Given the description of an element on the screen output the (x, y) to click on. 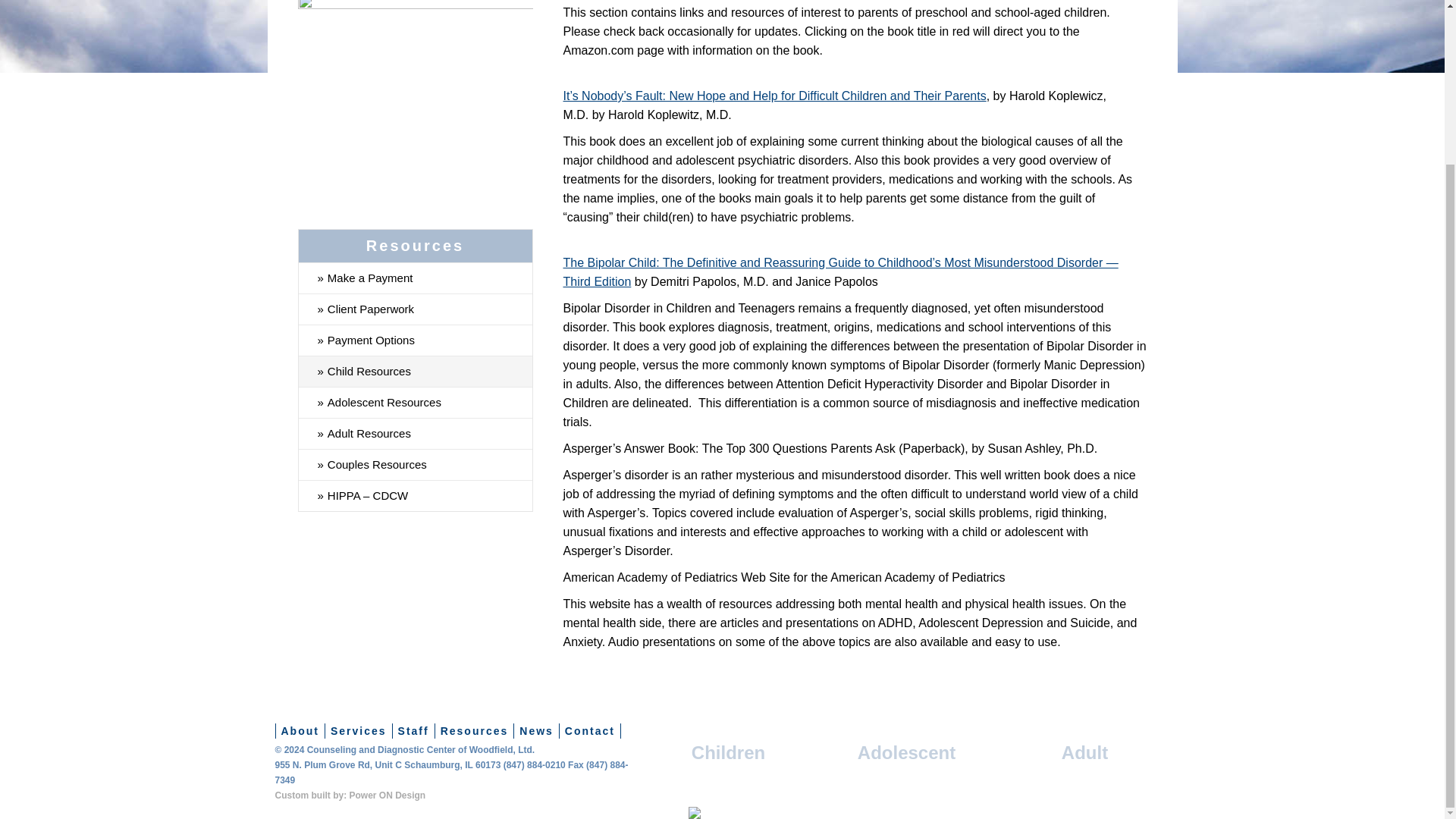
Make a Payment (415, 277)
Adult Services (1084, 752)
Child Resources (415, 370)
Adolescent Resources (415, 401)
Children Services (728, 752)
Payment Options (415, 339)
Client Paperwork (415, 308)
Adolescent Services (906, 752)
